Given the description of an element on the screen output the (x, y) to click on. 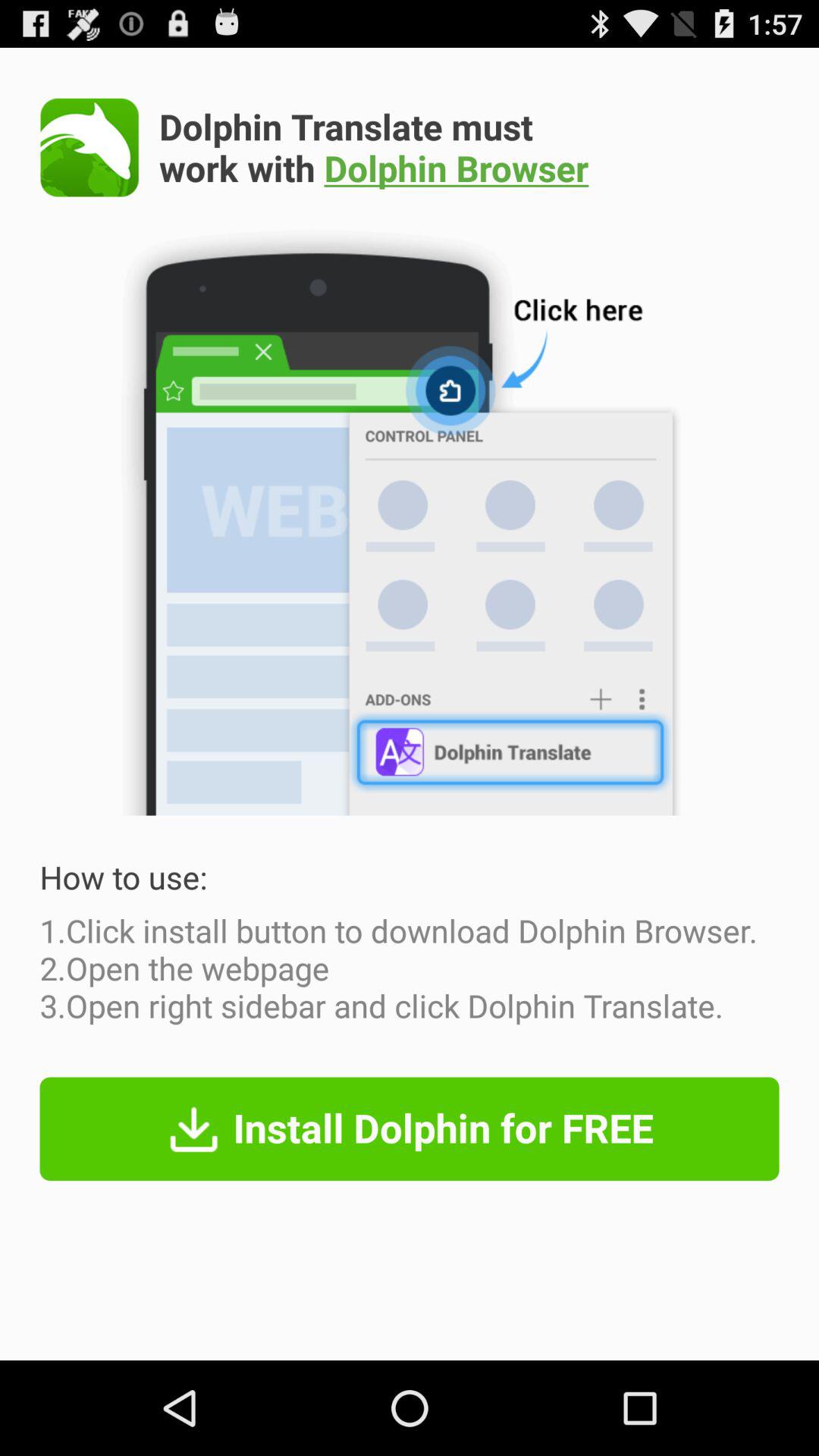
go to browser (89, 147)
